Given the description of an element on the screen output the (x, y) to click on. 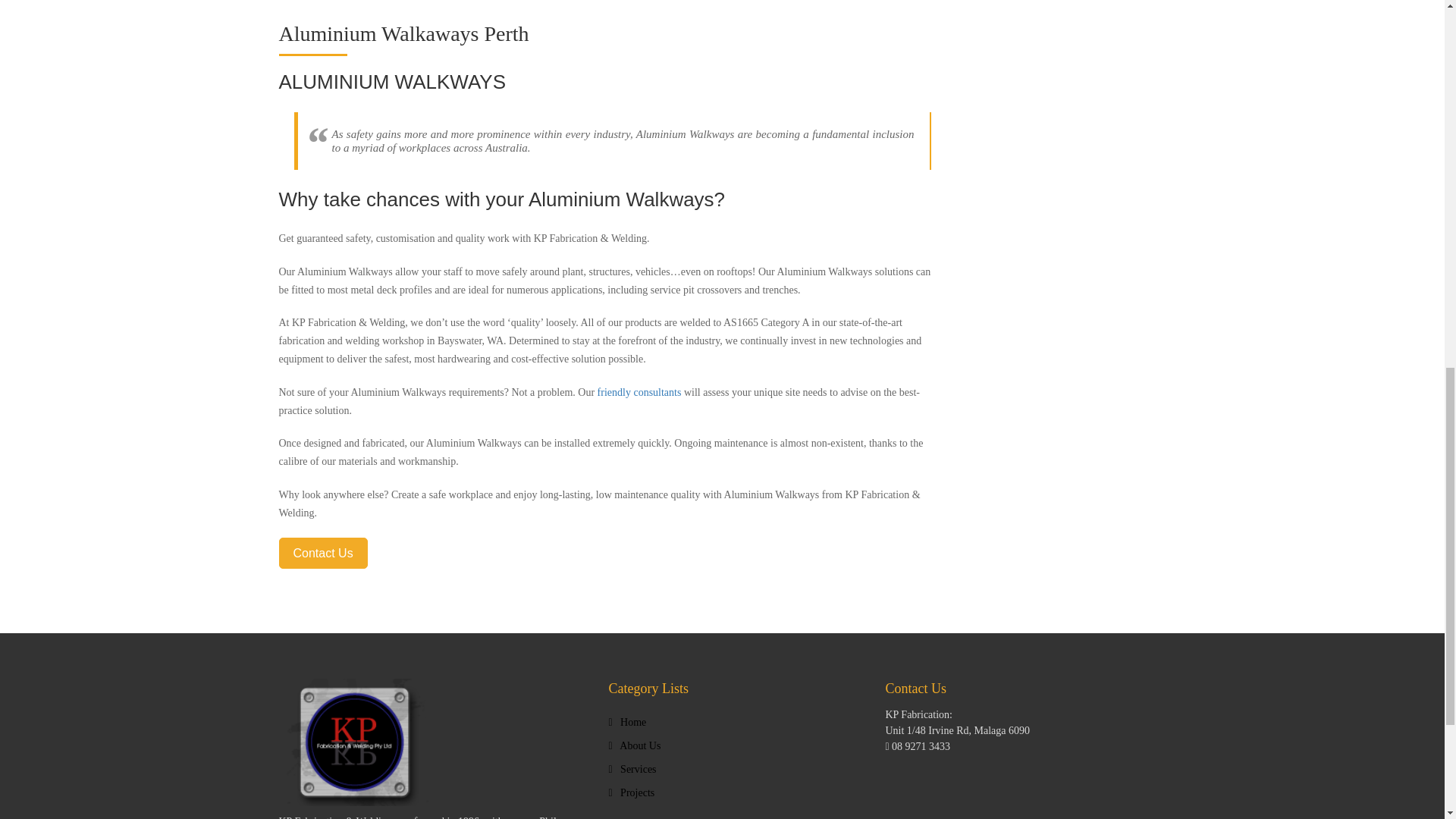
friendly consultants (638, 392)
Contact Us (323, 552)
  Home (627, 722)
